Given the description of an element on the screen output the (x, y) to click on. 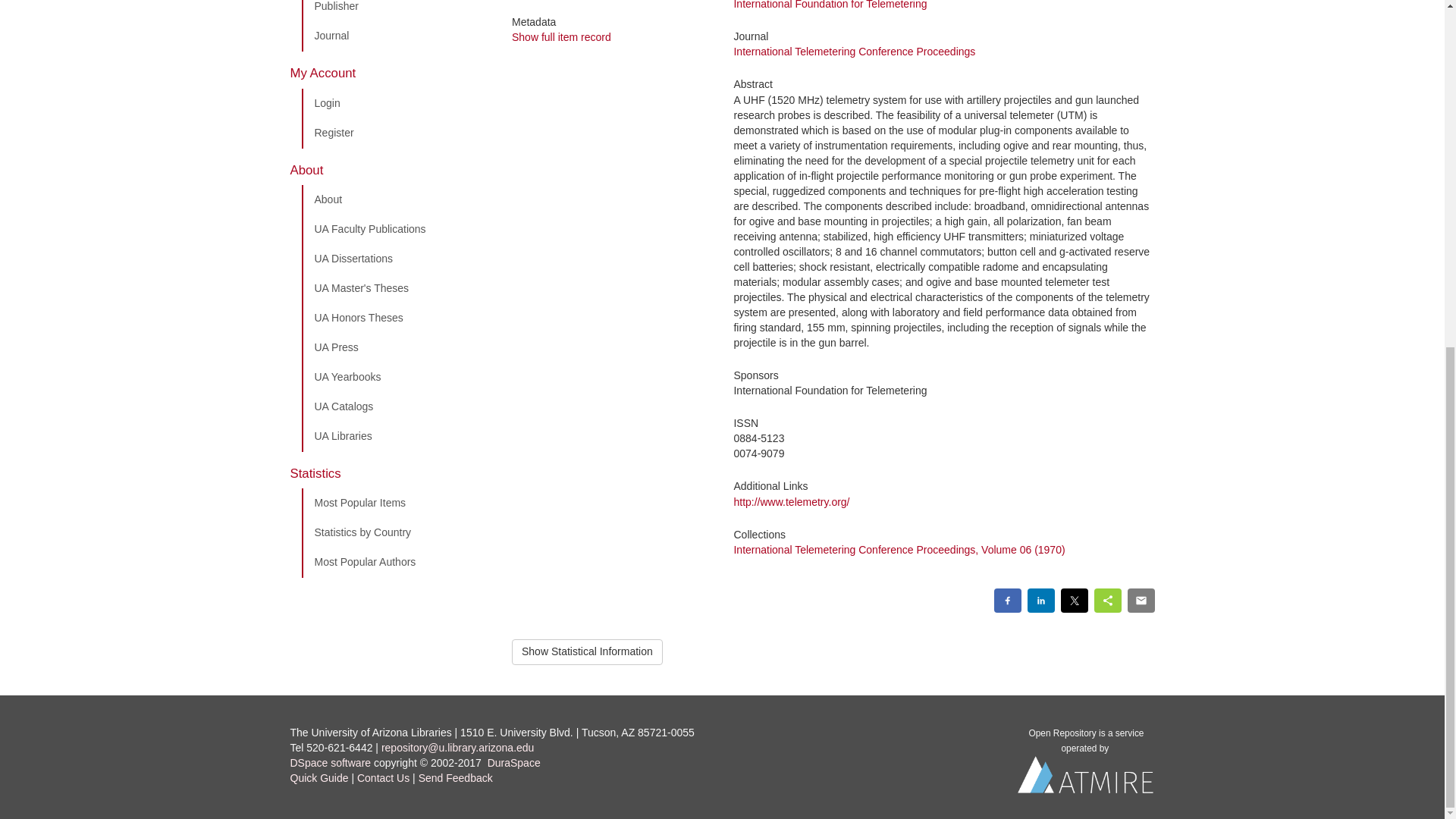
Journal (395, 36)
About (395, 200)
Login (395, 103)
UA Press (395, 347)
UA Honors Theses (395, 318)
Publisher (395, 11)
UA Master's Theses (395, 288)
Atmire NV (1085, 778)
UA Dissertations (395, 259)
Register (395, 132)
UA Faculty Publications (395, 229)
